Given the description of an element on the screen output the (x, y) to click on. 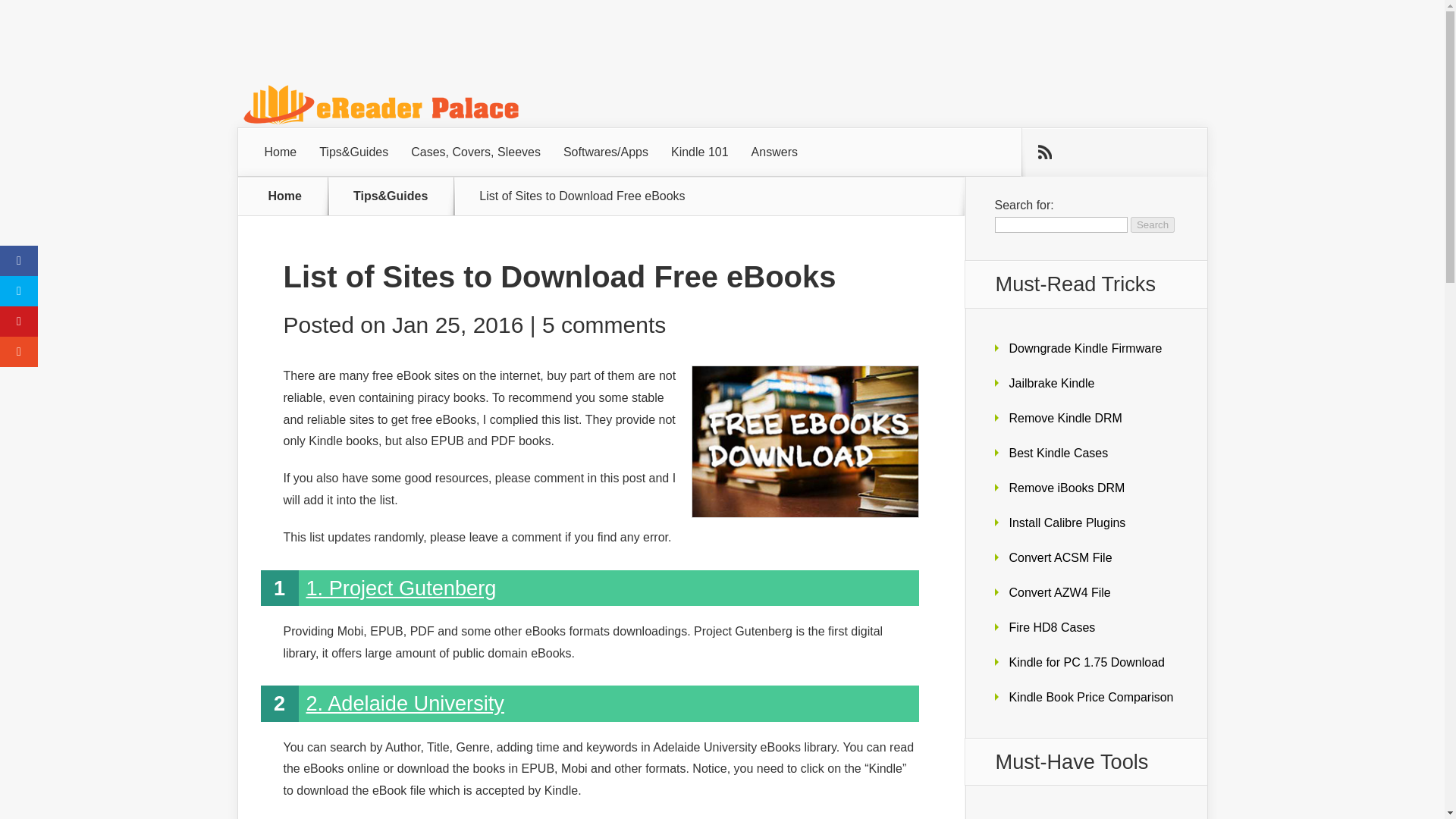
Fire HD8 Cases (1051, 626)
Install Calibre Plugins (1067, 521)
Home (285, 196)
Best Kindle Cases (1058, 451)
Convert AZW4 File (1059, 591)
5 comments (603, 324)
Home (280, 151)
Search (1152, 224)
Kindle for PC 1.75 Download (1086, 661)
1. Project Gutenberg (400, 587)
